Given the description of an element on the screen output the (x, y) to click on. 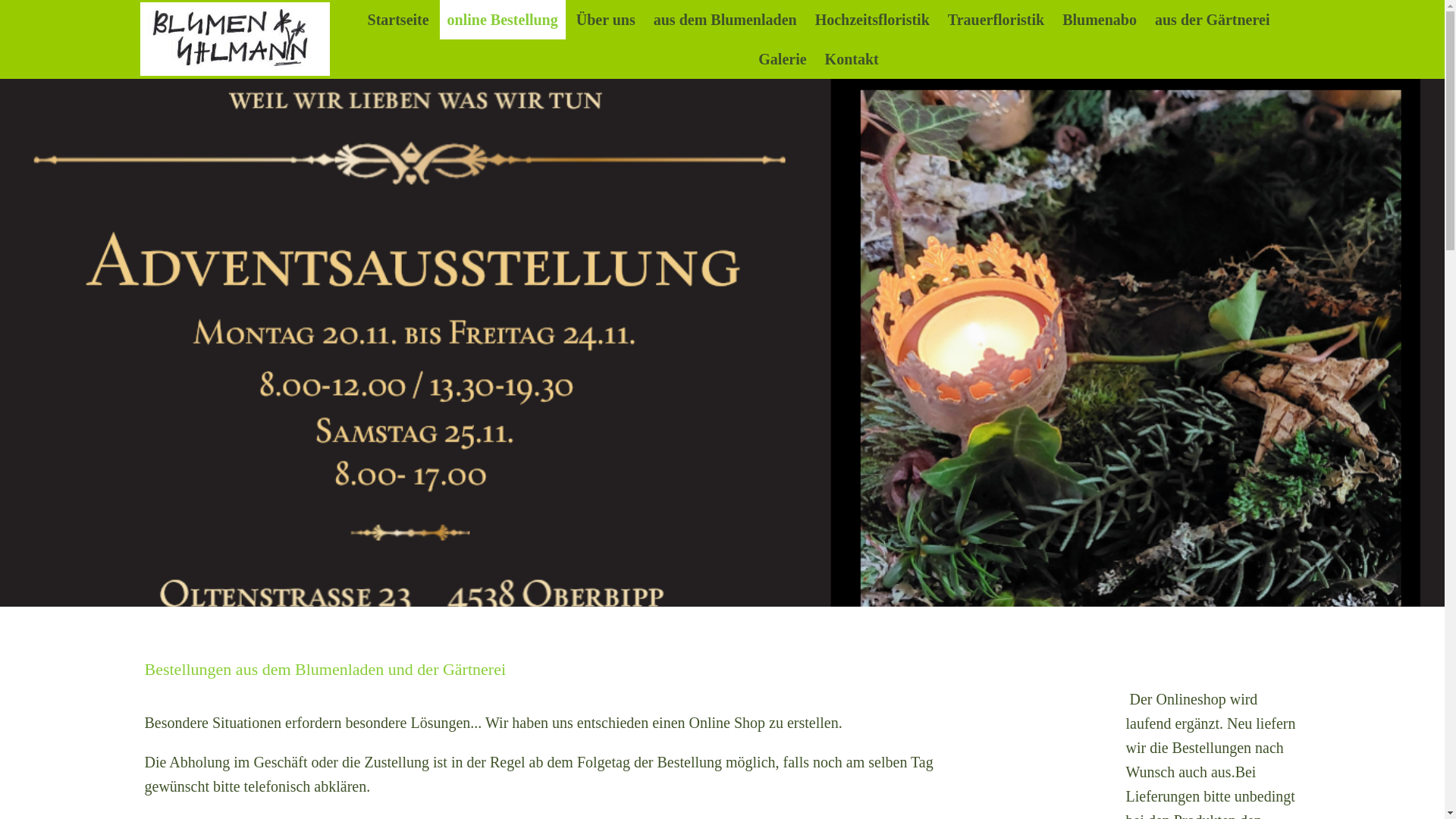
aus dem Blumenladen Element type: text (725, 19)
Hochzeitsfloristik Element type: text (872, 19)
Trauerfloristik Element type: text (995, 19)
Blumenabo Element type: text (1099, 19)
Startseite Element type: text (398, 19)
online Bestellung Element type: text (502, 19)
Kontakt Element type: text (851, 58)
Galerie Element type: text (782, 58)
